Given the description of an element on the screen output the (x, y) to click on. 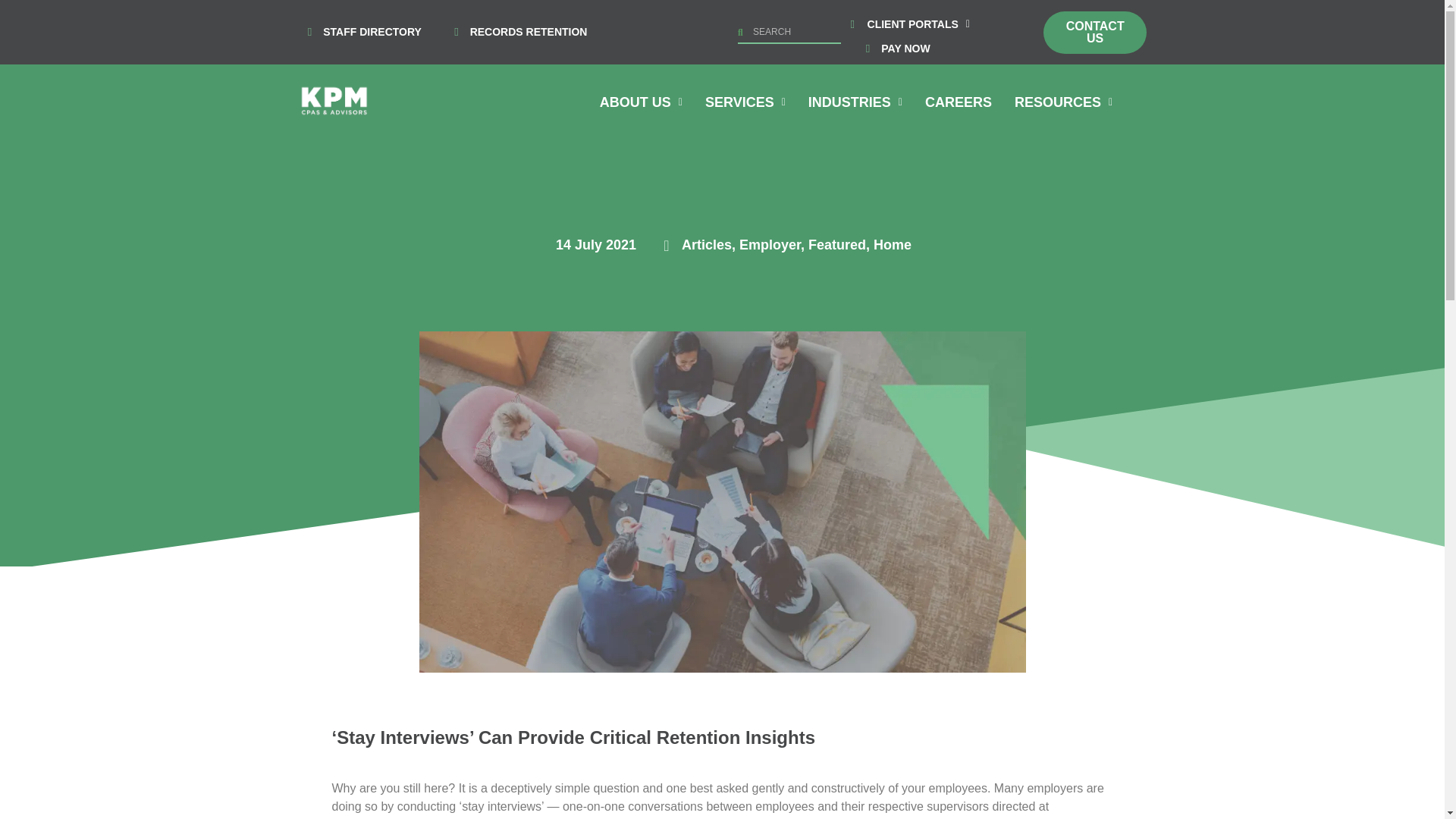
SERVICES (745, 102)
RECORDS RETENTION (516, 32)
ABOUT US (641, 102)
INDUSTRIES (855, 102)
CLIENT PORTALS (918, 23)
STAFF DIRECTORY (358, 32)
CONTACT US (1095, 31)
PAY NOW (893, 48)
